Given the description of an element on the screen output the (x, y) to click on. 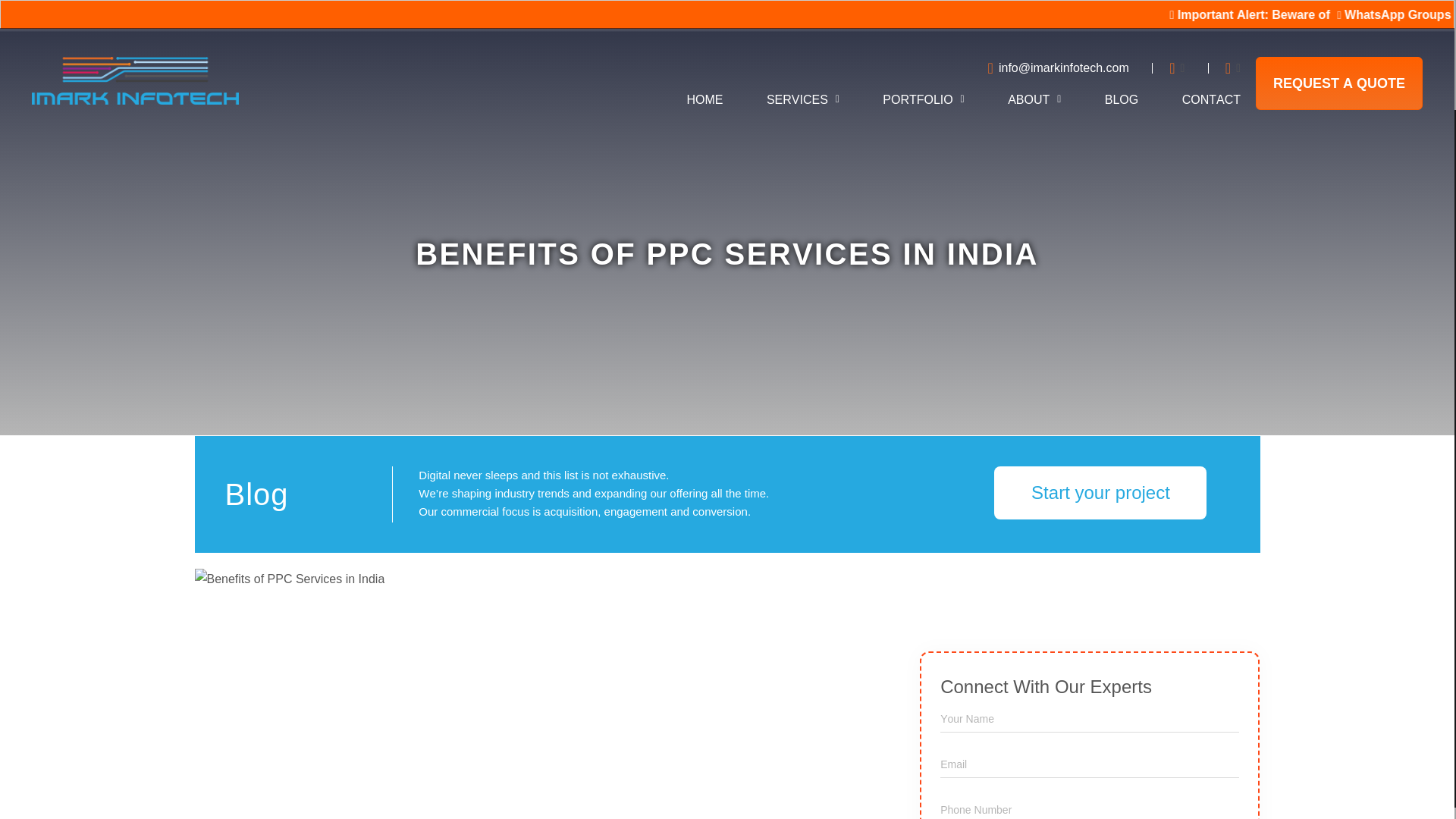
REQUEST A QUOTE (1338, 82)
HOME (703, 104)
SERVICES (803, 104)
